Given the description of an element on the screen output the (x, y) to click on. 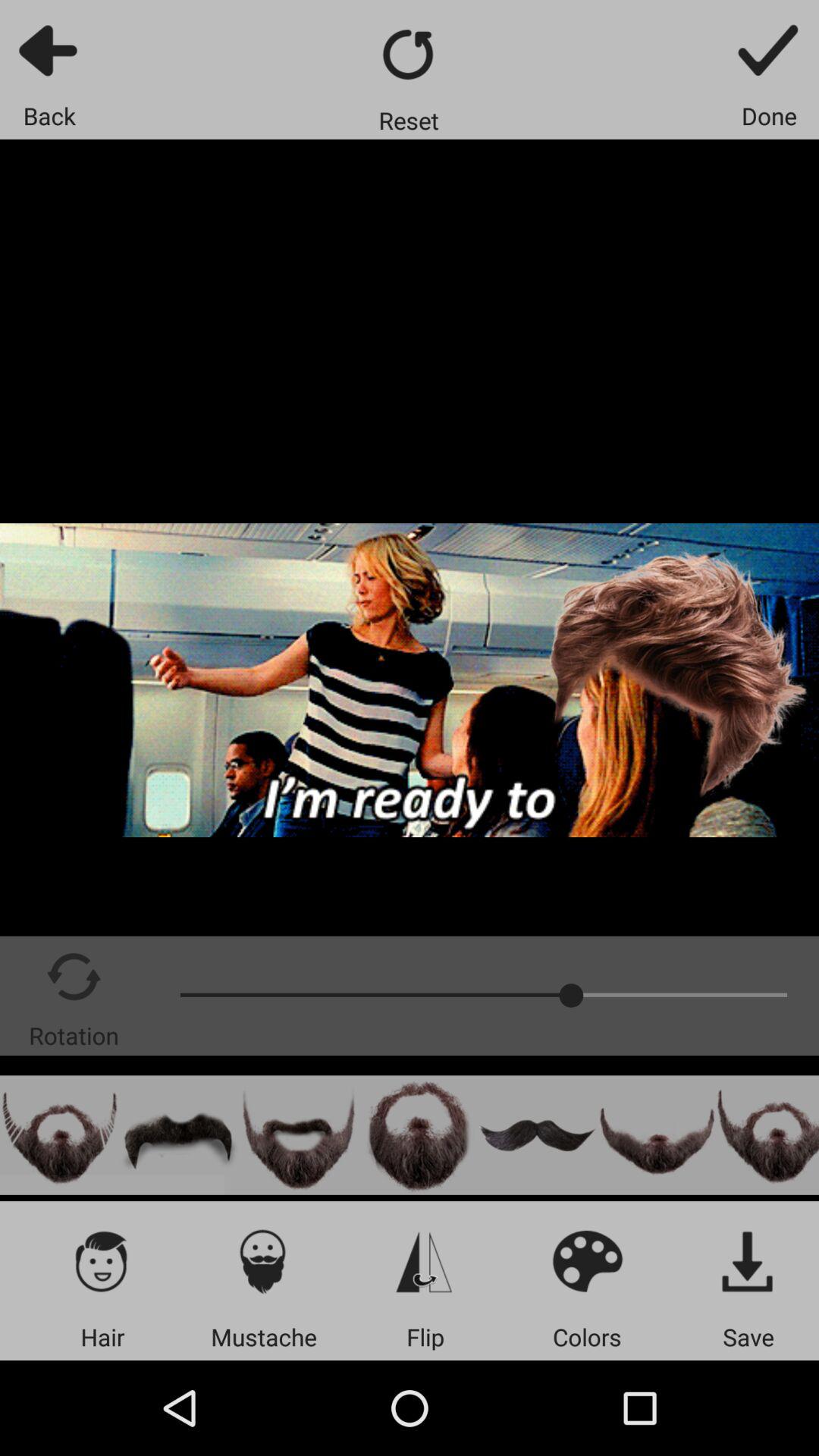
mustache icon (263, 1260)
